Given the description of an element on the screen output the (x, y) to click on. 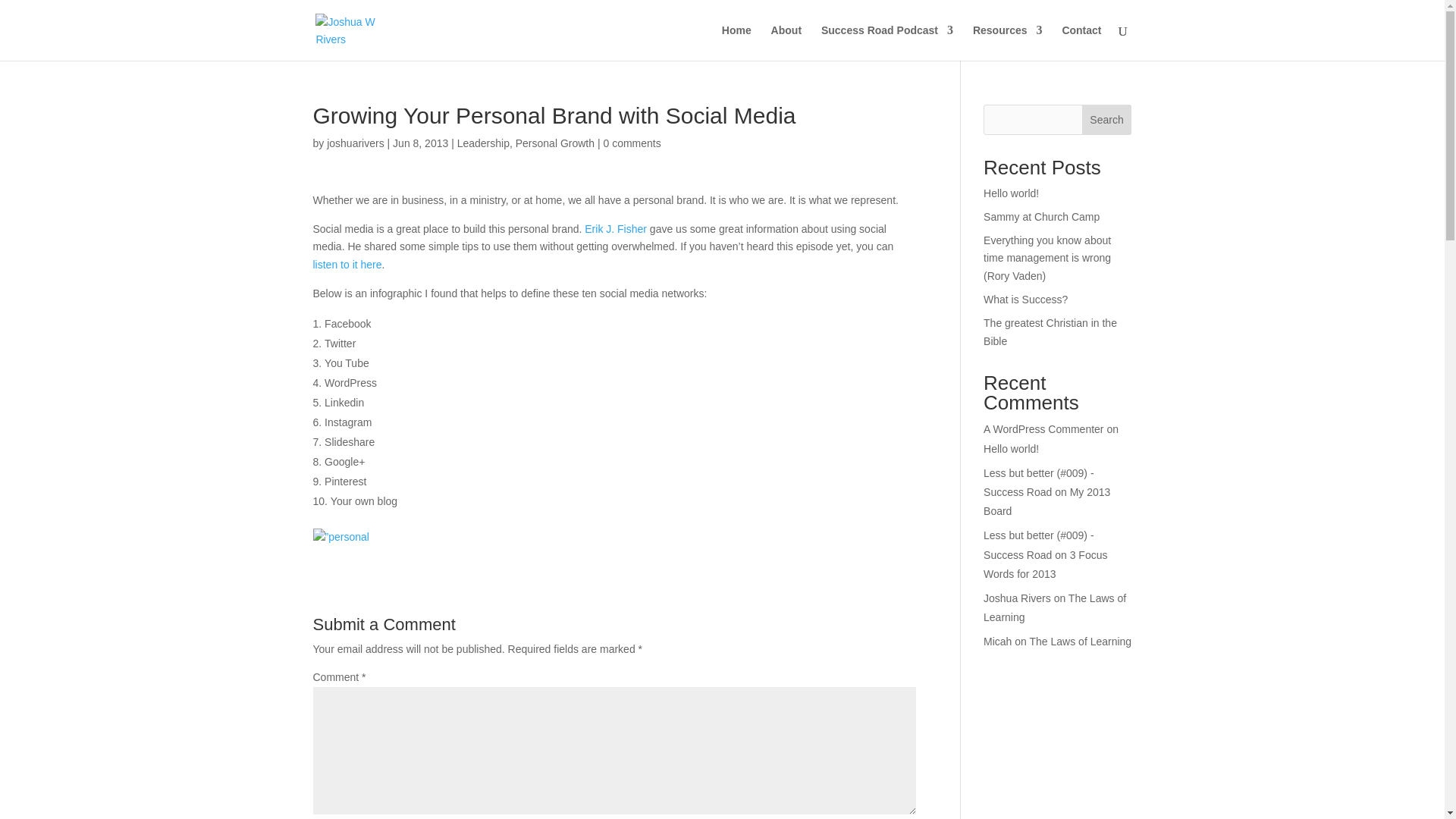
My 2013 Board (1046, 501)
A WordPress Commenter (1043, 428)
Contact (1080, 42)
Personal Growth (554, 143)
Hello world! (1011, 449)
Micah (997, 641)
3 Focus Words for 2013 (1045, 563)
Sammy at Church Camp (1041, 216)
Joshua Rivers (1017, 598)
joshuarivers (355, 143)
0 comments (631, 143)
Hello world! (1011, 193)
Posts by joshuarivers (355, 143)
Success Road Podcast (887, 42)
Resources (1007, 42)
